Given the description of an element on the screen output the (x, y) to click on. 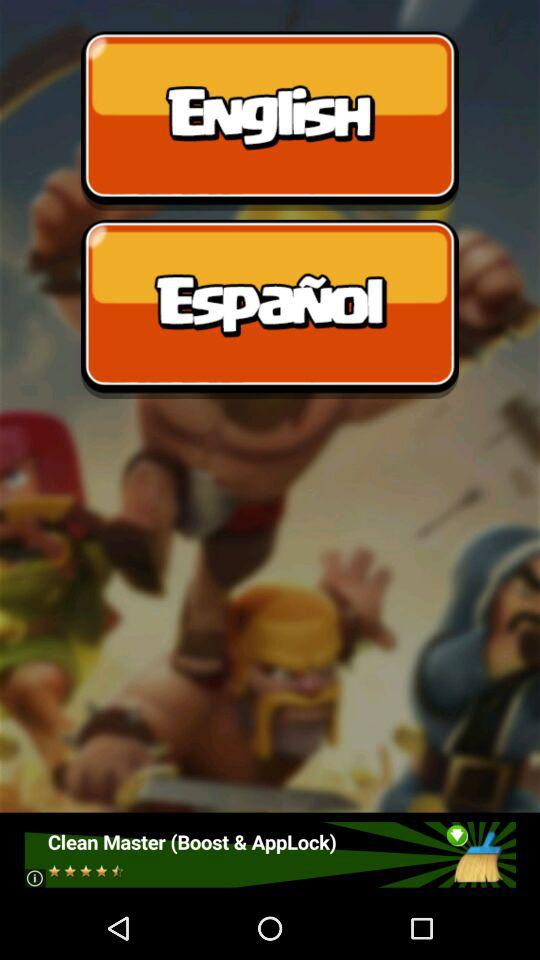
click the advertisement (269, 854)
